Given the description of an element on the screen output the (x, y) to click on. 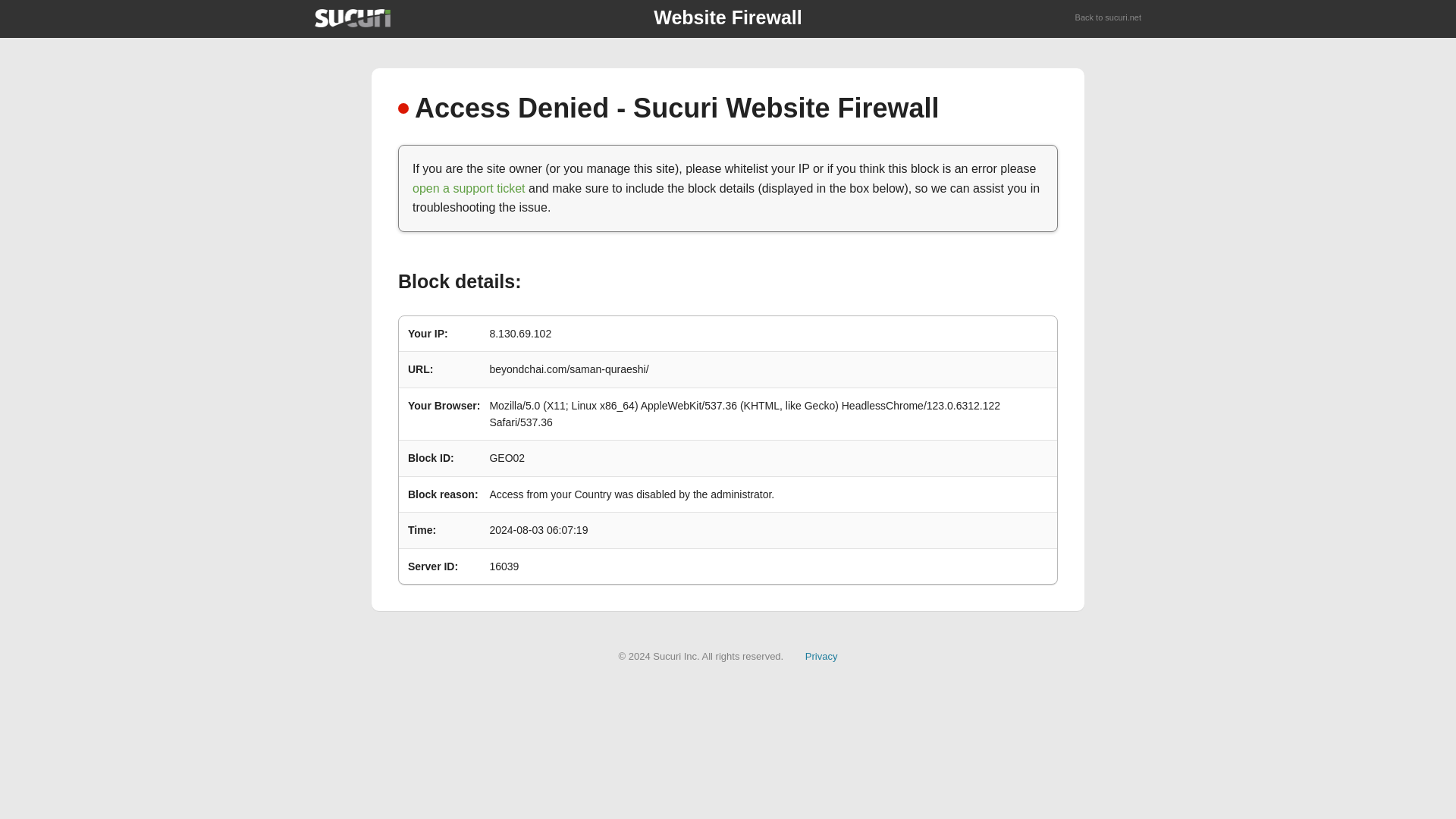
Privacy (821, 655)
open a support ticket (468, 187)
Back to sucuri.net (1108, 18)
